Given the description of an element on the screen output the (x, y) to click on. 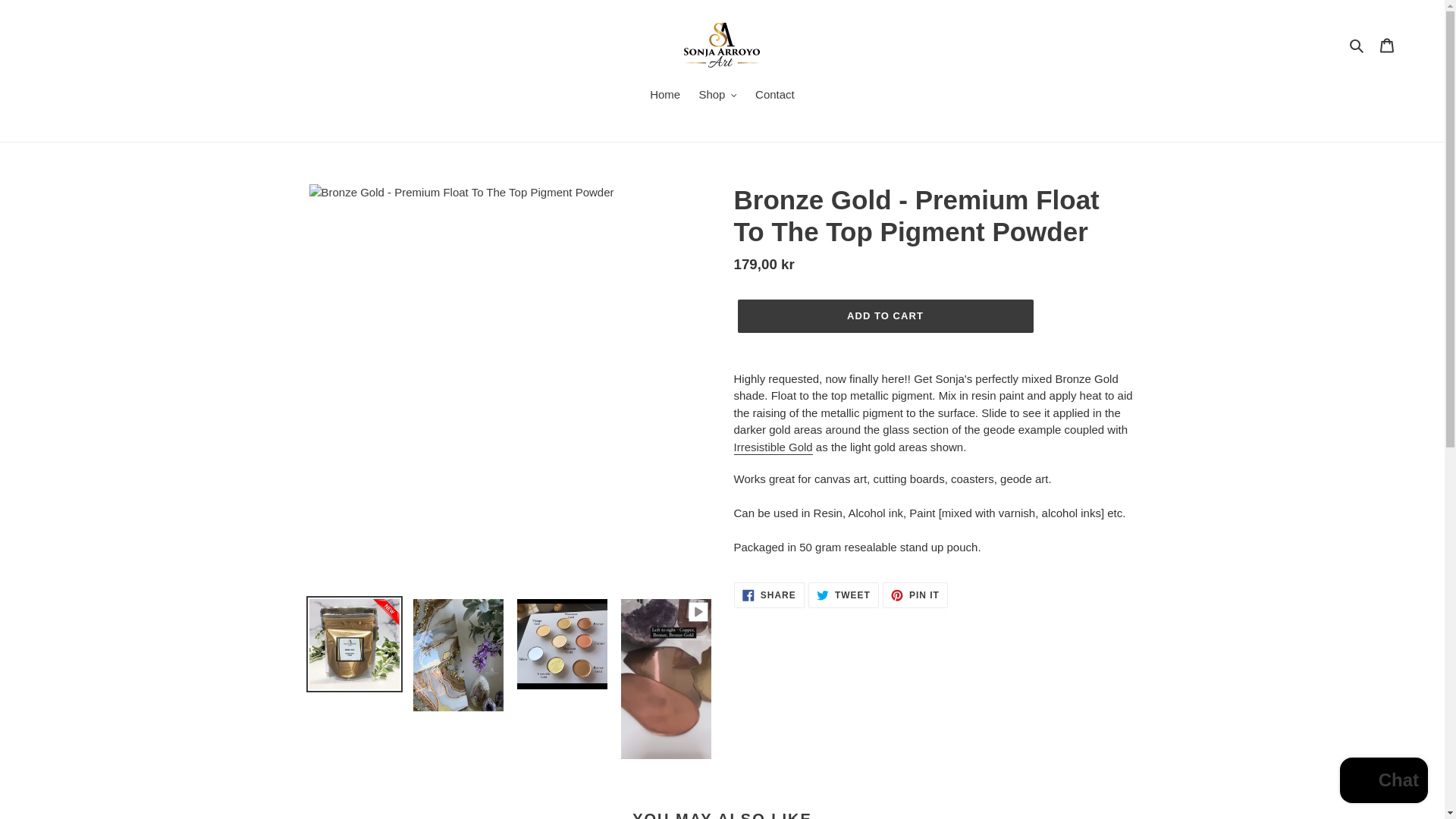
Cart (1387, 44)
Search (1357, 45)
Contact (775, 96)
Home (664, 96)
Shopify online store chat (1383, 781)
Shop (717, 96)
Irresistible Gold (772, 447)
